Given the description of an element on the screen output the (x, y) to click on. 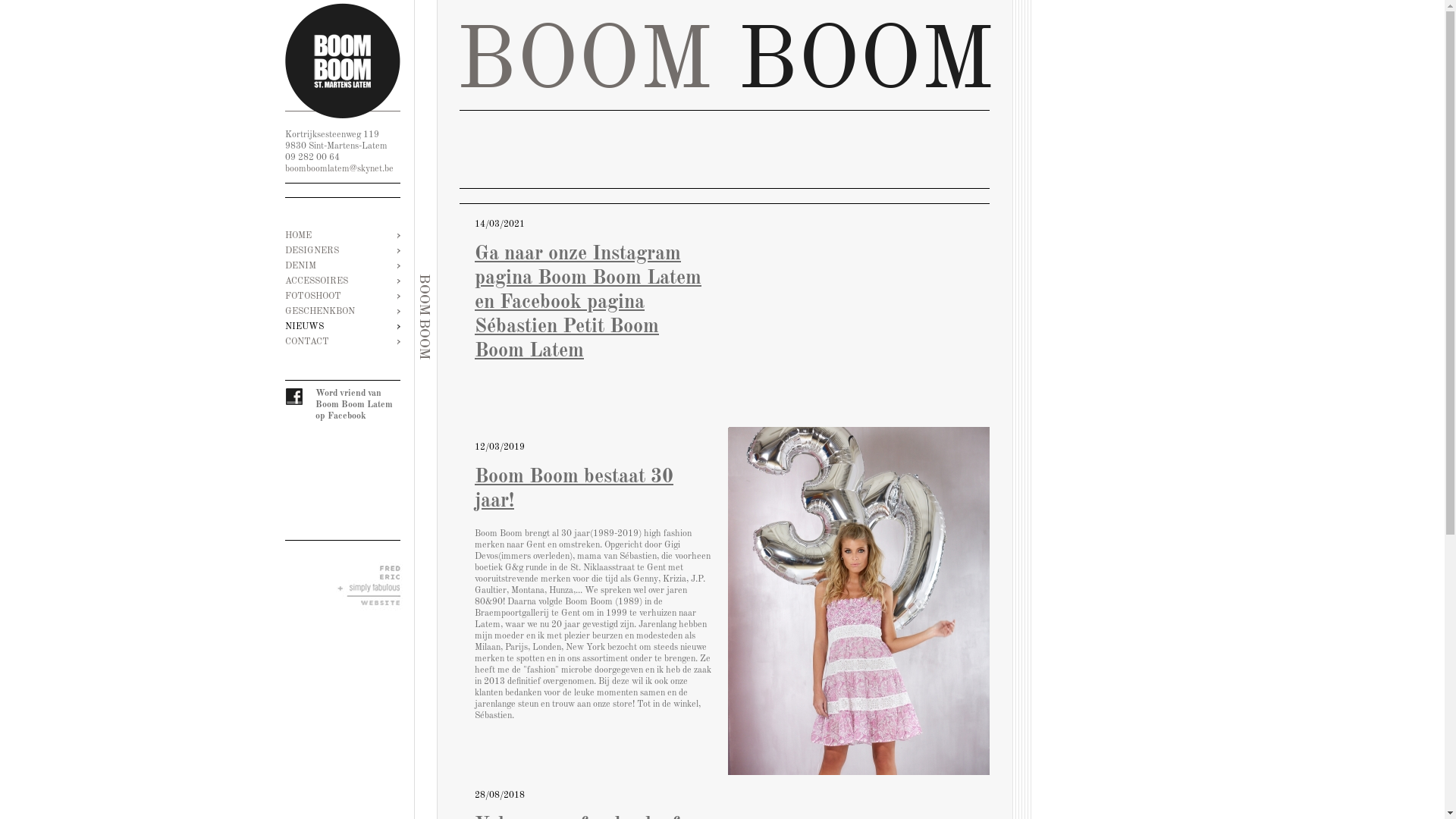
Webdesign Simply Fabulous Element type: text (370, 588)
FRED + ERIC Element type: text (370, 570)
boomboomlatem@skynet.be Element type: text (339, 168)
Word vriend van Boom Boom Latem op Facebook Element type: text (342, 405)
ACCESSOIRES Element type: text (342, 280)
DENIM Element type: text (342, 265)
GESCHENKBON Element type: text (342, 311)
FOTOSHOOT Element type: text (342, 296)
NIEUWS Element type: text (342, 326)
Boom Boom bestaat 30 jaar! Element type: hover (858, 600)
DESIGNERS Element type: text (342, 250)
CONTACT Element type: text (342, 341)
HOME Element type: text (342, 235)
Home Element type: text (342, 59)
